Given the description of an element on the screen output the (x, y) to click on. 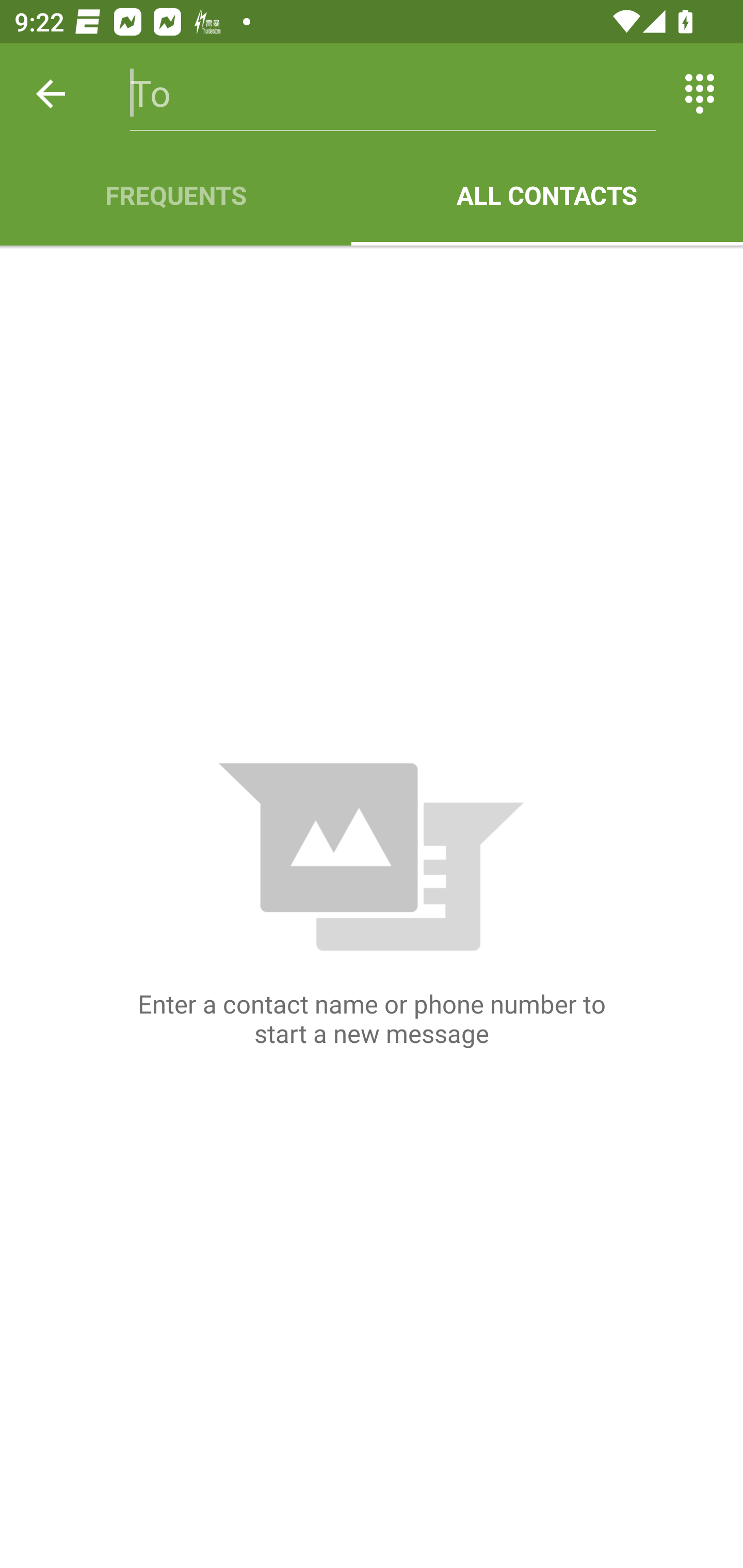
Back (50, 93)
Switch between entering text and numbers (699, 93)
To (393, 93)
FREQUENTS (175, 195)
ALL CONTACTS (547, 195)
